Given the description of an element on the screen output the (x, y) to click on. 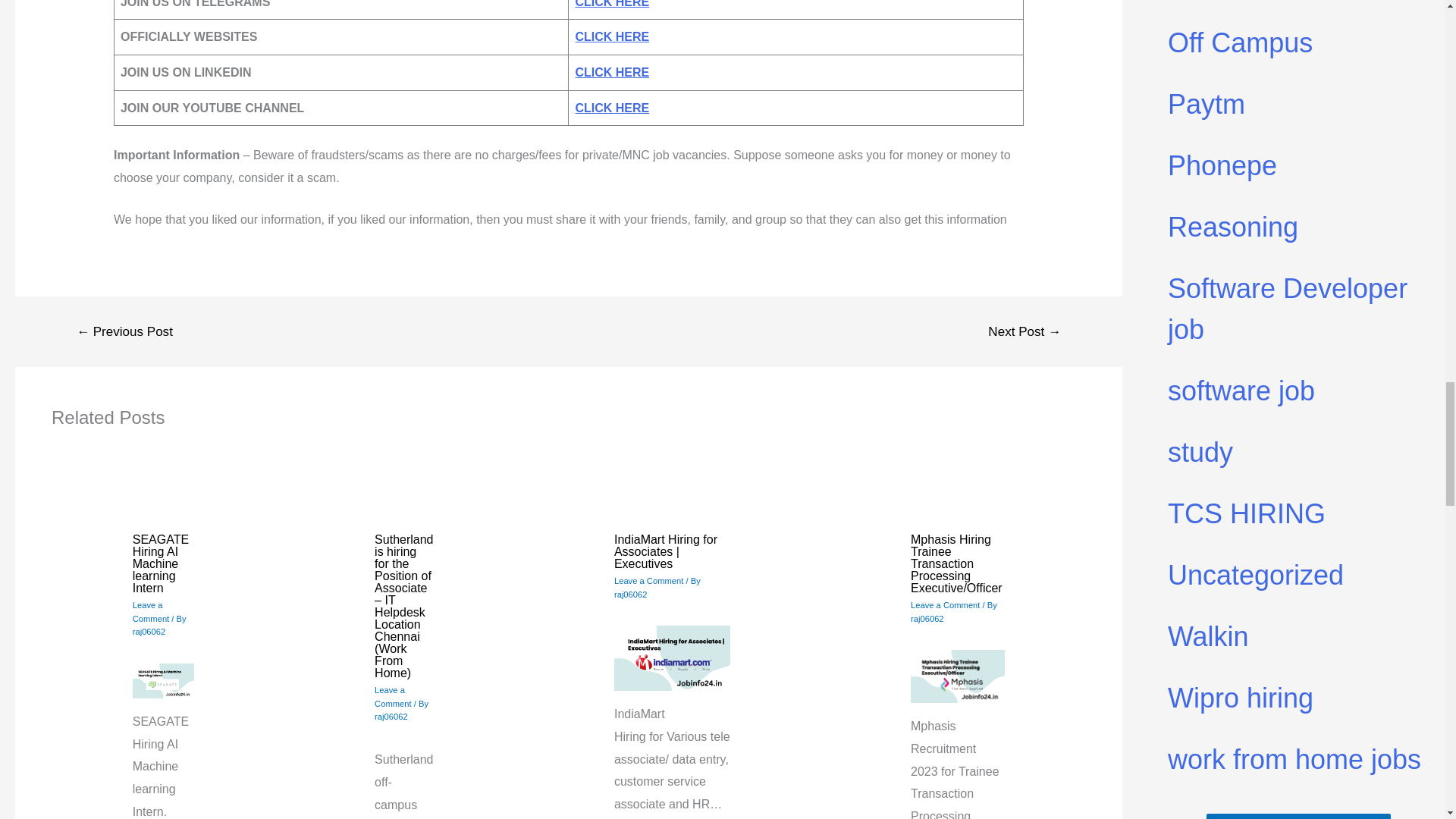
CLICK HERE (612, 36)
CLICK HERE (612, 4)
View all posts by raj06062 (148, 631)
CLICK HERE (612, 107)
View all posts by raj06062 (927, 618)
SEAGATE Hiring AI Machine learning Intern 3 (162, 680)
CLICK HERE (612, 72)
View all posts by raj06062 (390, 716)
View all posts by raj06062 (630, 593)
